Given the description of an element on the screen output the (x, y) to click on. 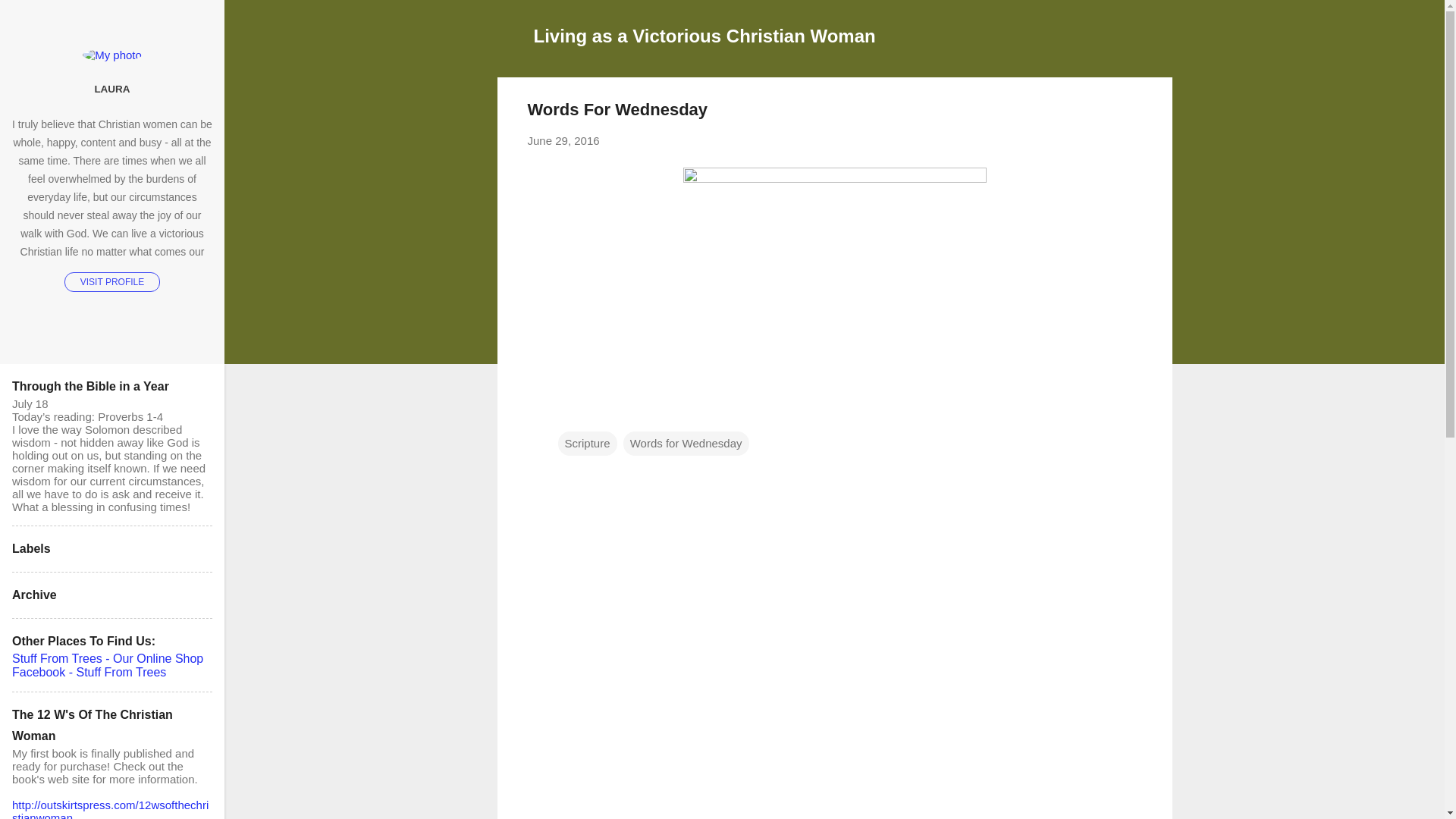
Living as a Victorious Christian Woman (705, 35)
Words for Wednesday (686, 442)
June 29, 2016 (563, 140)
Search (29, 18)
Scripture (587, 442)
permanent link (563, 140)
LAURA (112, 88)
VISIT PROFILE (112, 281)
